Given the description of an element on the screen output the (x, y) to click on. 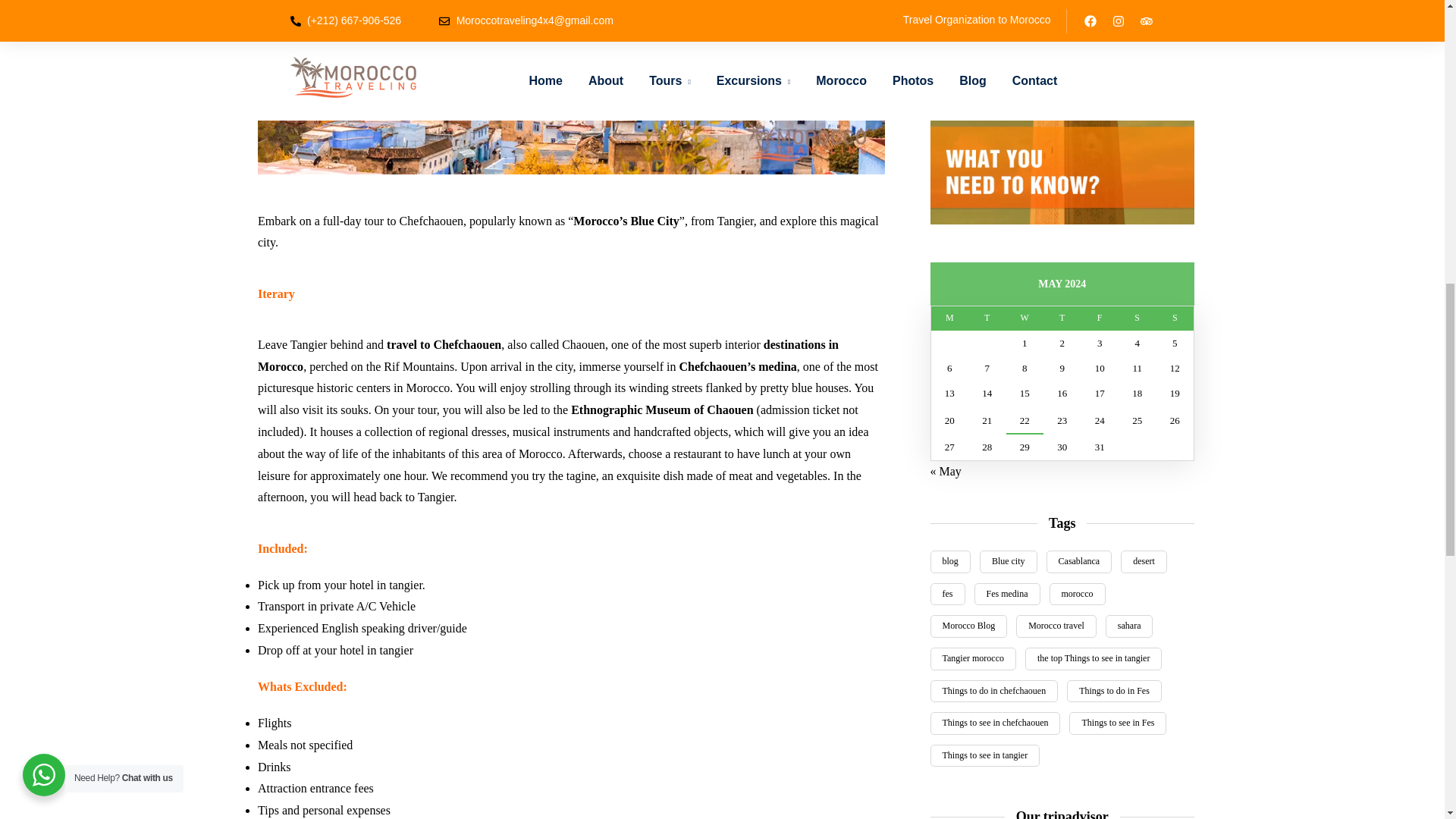
Tuesday (987, 318)
Wednesday (1024, 318)
Friday (1099, 318)
Monday (949, 318)
Saturday (1137, 318)
Sunday (1174, 318)
Thursday (1061, 318)
